Given the description of an element on the screen output the (x, y) to click on. 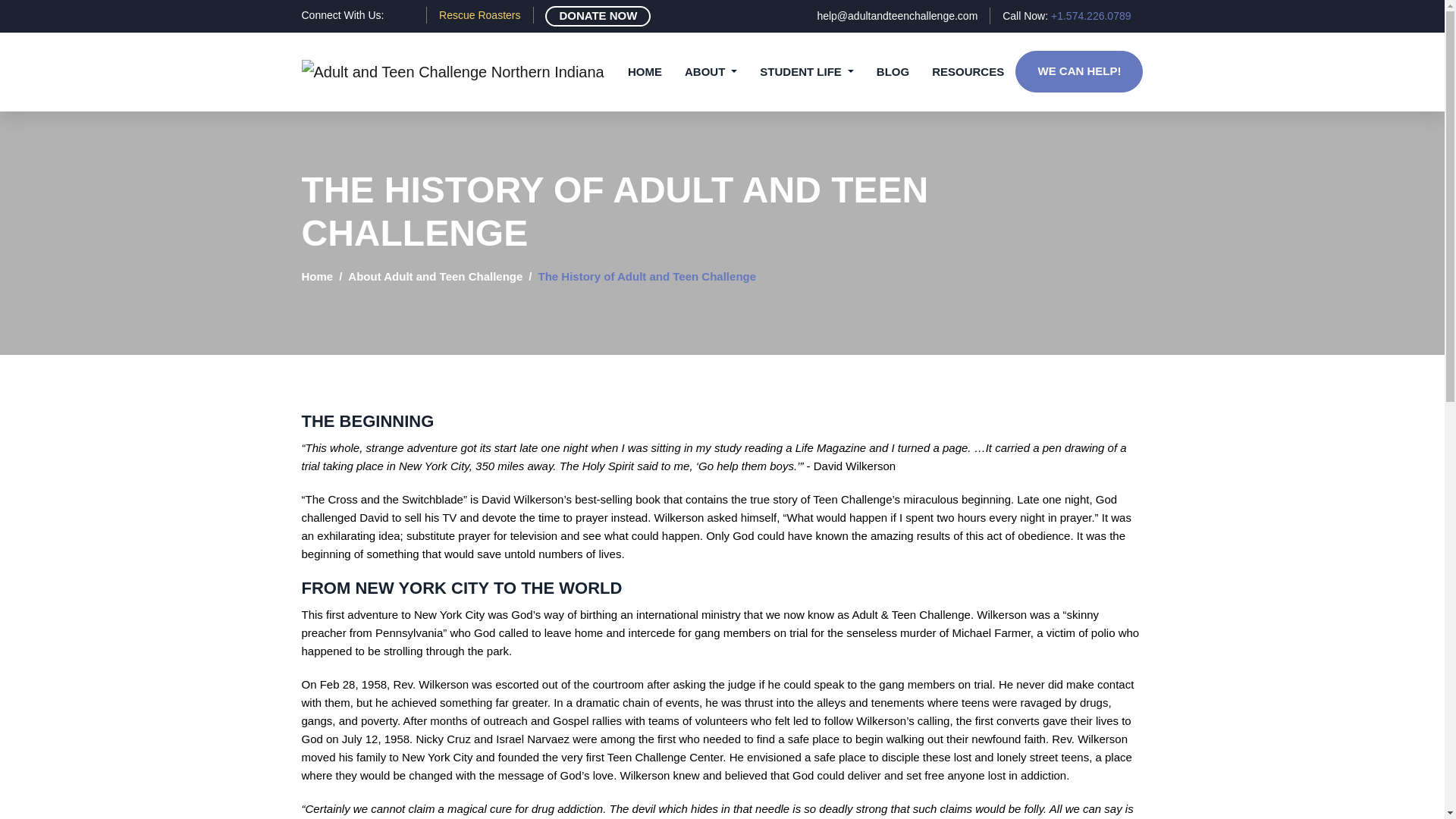
Home (317, 276)
About Adult and Teen Challenge (434, 276)
ABOUT (710, 70)
Rescue Roasters (479, 14)
STUDENT LIFE (806, 70)
DONATE NOW (597, 15)
RESOURCES (967, 70)
WE CAN HELP! (1078, 71)
